Given the description of an element on the screen output the (x, y) to click on. 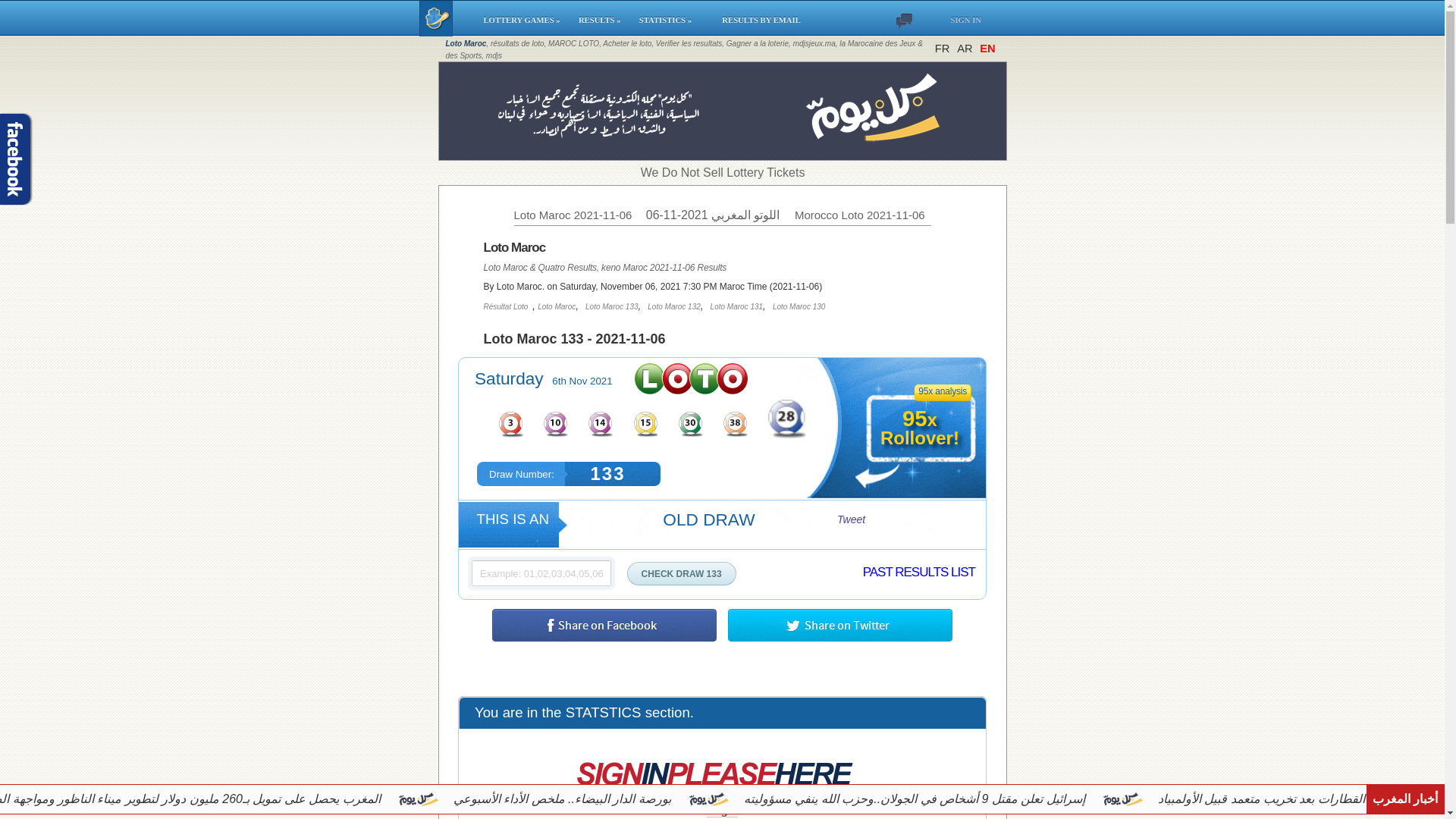
FR (942, 48)
CHECK DRAW 133 (681, 573)
RESULTS BY EMAIL (757, 19)
Morocco Loto  (859, 215)
EN (987, 48)
Morocco Loto 2021-11-06 (859, 215)
Loto Maroc  (572, 215)
AR (964, 48)
Loto Maroc 2021-11-06 (572, 215)
SIGN IN (963, 19)
